Given the description of an element on the screen output the (x, y) to click on. 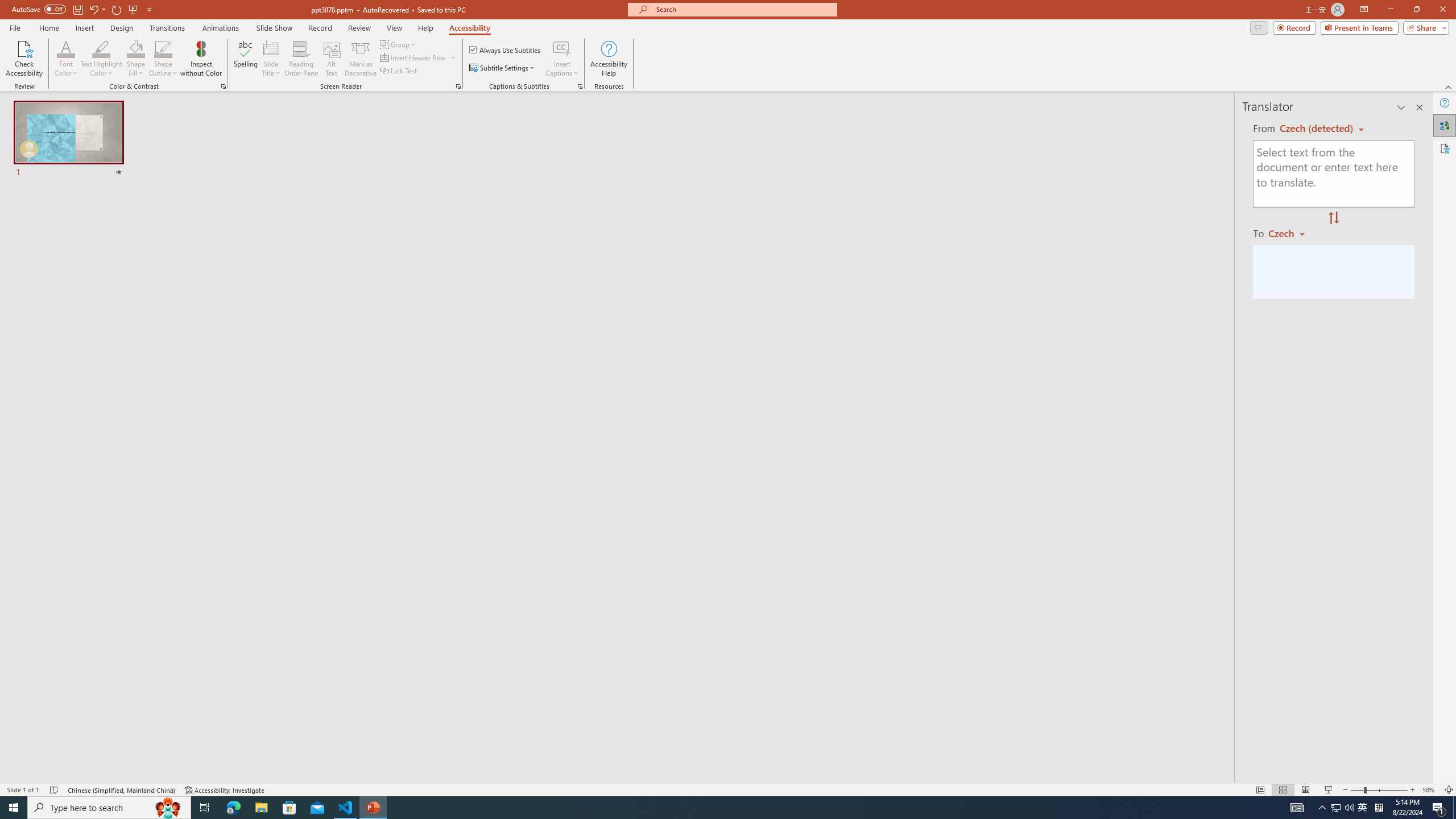
Czech (1291, 232)
Always Use Subtitles (505, 49)
Mark as Decorative (360, 58)
Slide Title (271, 58)
